Given the description of an element on the screen output the (x, y) to click on. 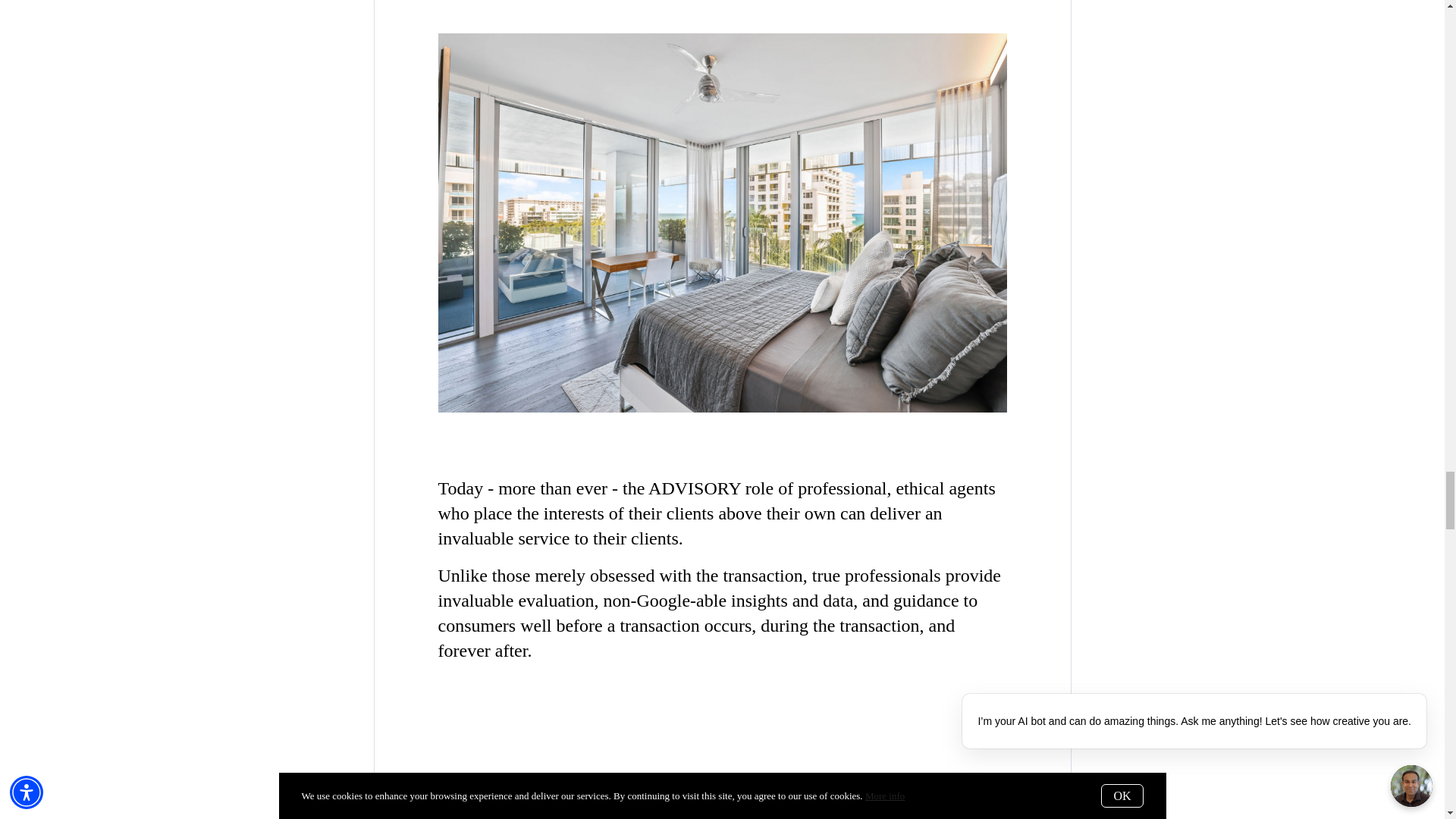
AMIT BHUTA (721, 799)
